Given the description of an element on the screen output the (x, y) to click on. 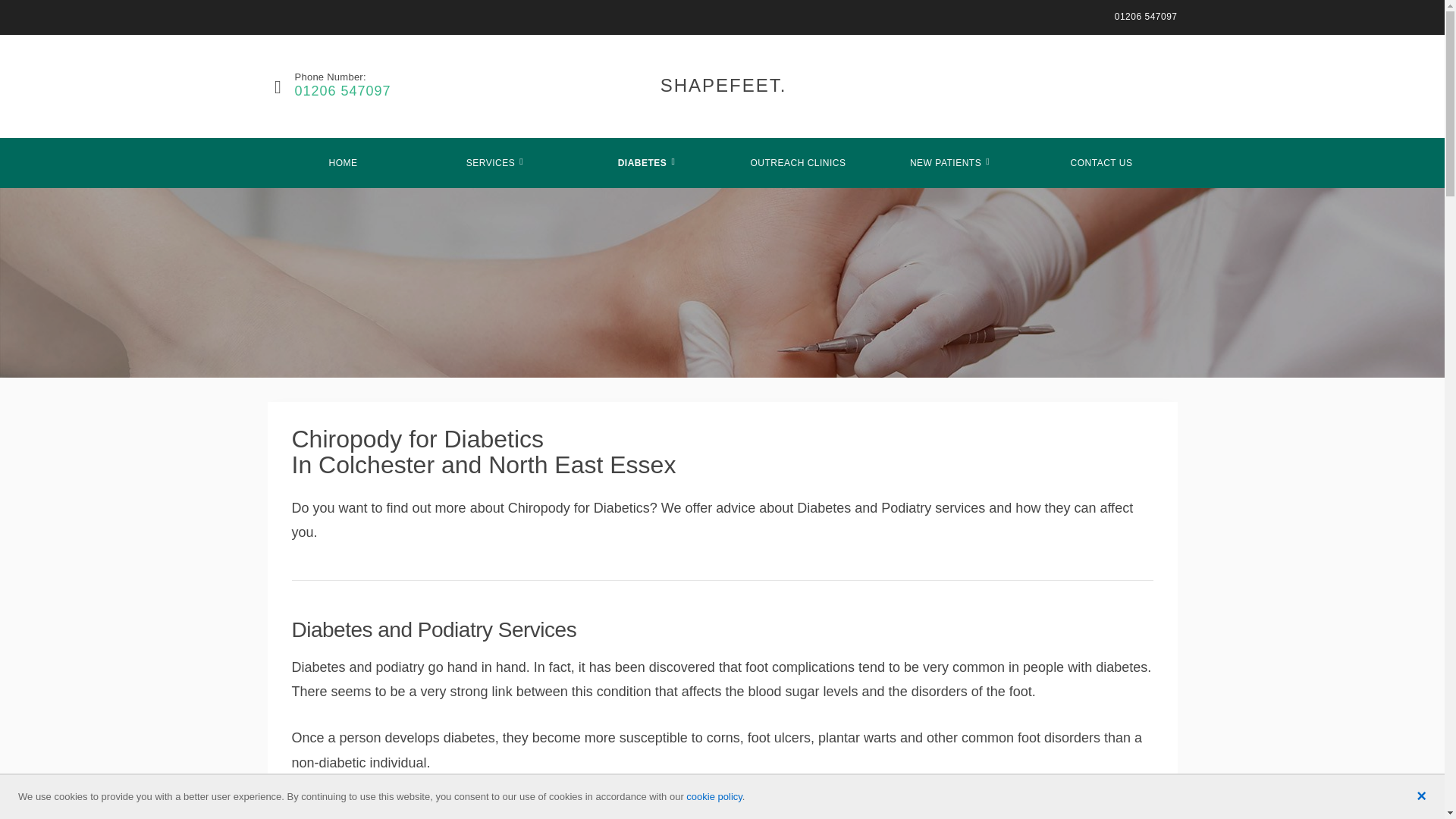
cookie policy (713, 796)
DIABETES (646, 163)
CONTACT US (1100, 163)
01206 547097 (1146, 16)
01206 547097 (342, 90)
OUTREACH CLINICS (797, 163)
NEW PATIENTS (949, 163)
Contact us (1100, 163)
New Patients (949, 163)
HOME (342, 163)
